Given the description of an element on the screen output the (x, y) to click on. 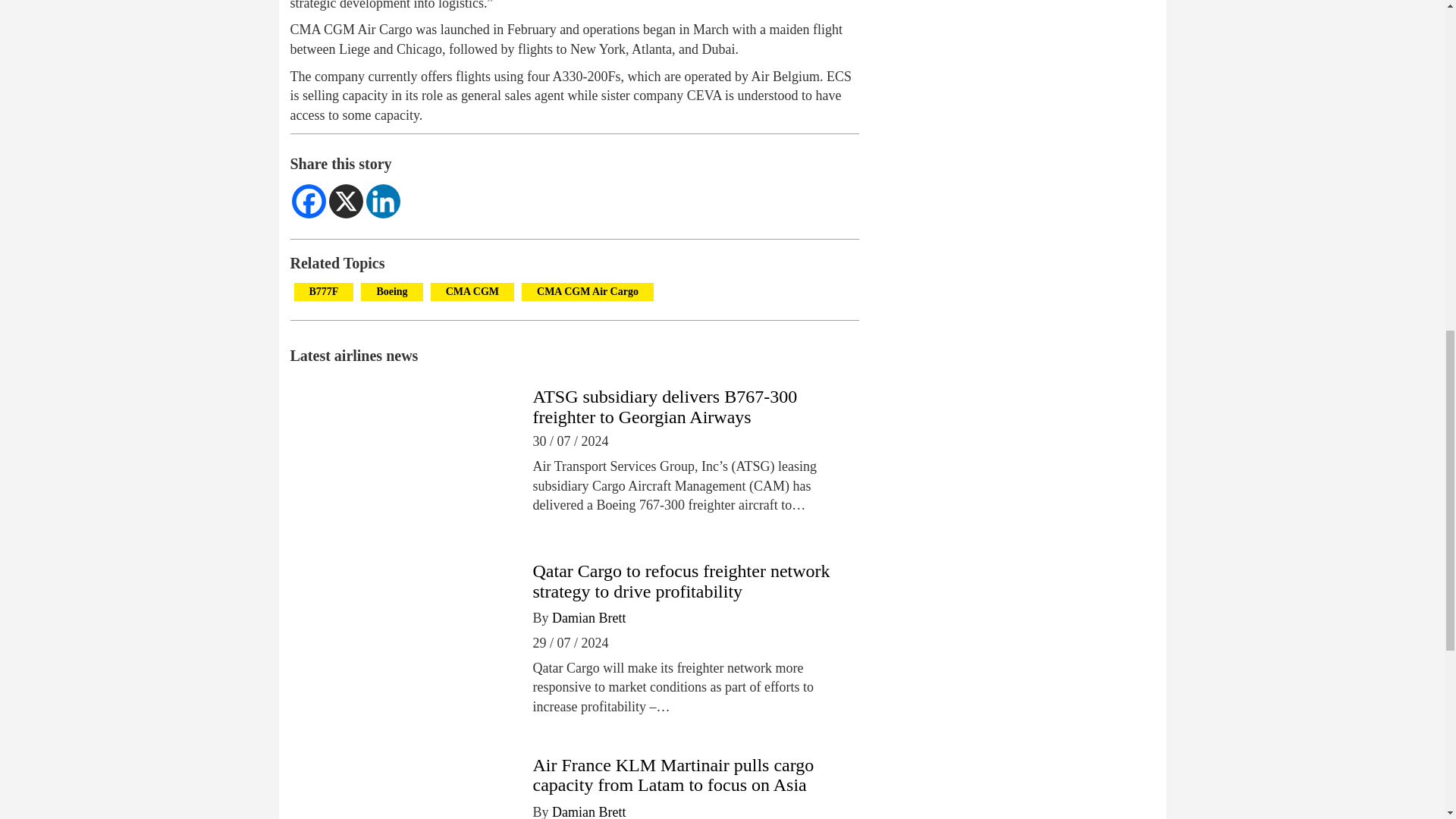
X (345, 201)
Linkedin (381, 201)
Facebook (307, 201)
